Given the description of an element on the screen output the (x, y) to click on. 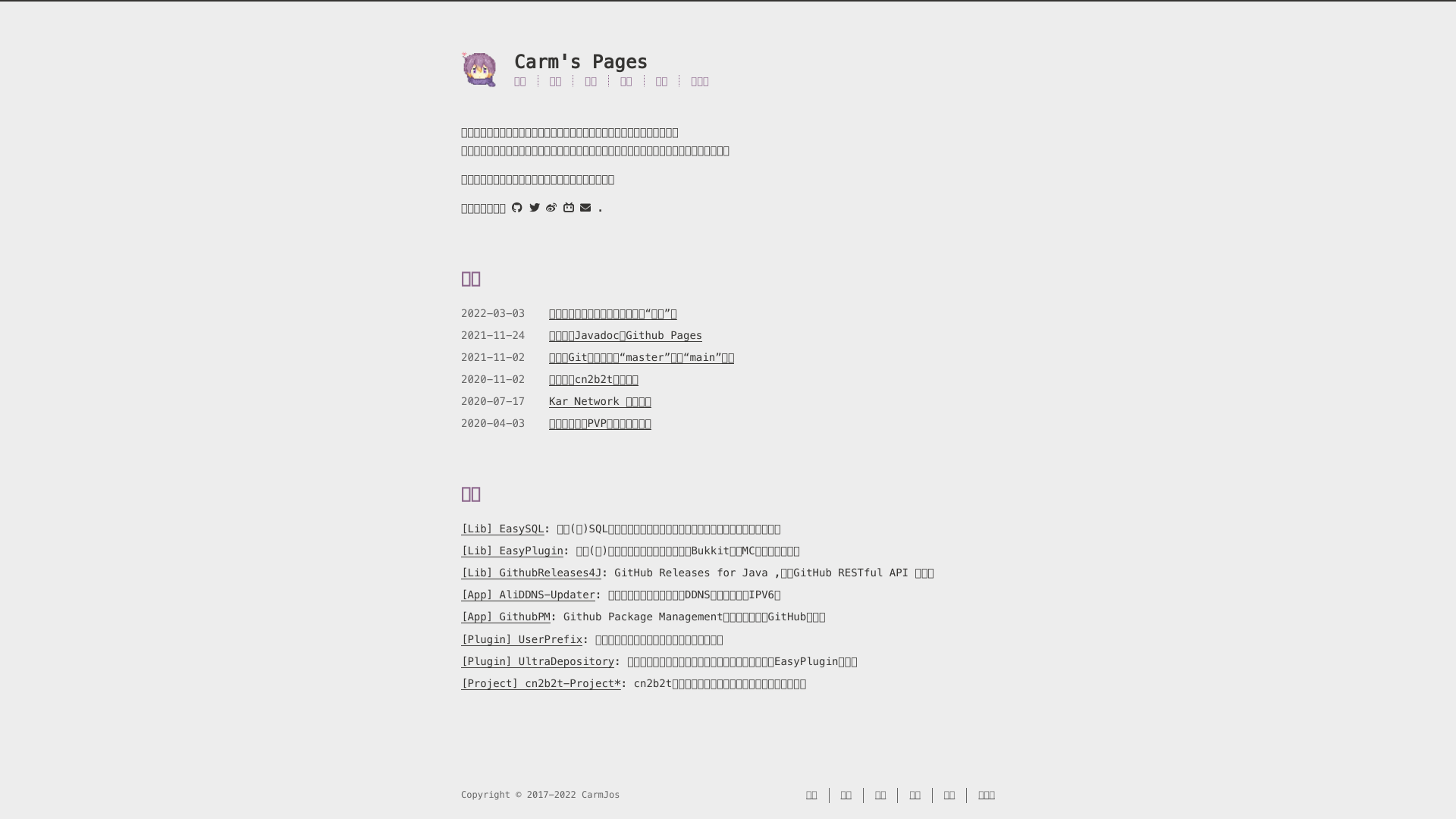
[Plugin] UltraDepository Element type: text (537, 661)
[App] GithubPM Element type: text (505, 616)
[Lib] EasyPlugin Element type: text (512, 550)
Carm's Pages Element type: text (727, 62)
[Lib] EasySQL Element type: text (502, 528)
[Project] cn2b2t-Project* Element type: text (541, 683)
[Plugin] UserPrefix Element type: text (521, 639)
[Lib] GithubReleases4J Element type: text (531, 572)
[App] AliDDNS-Updater Element type: text (528, 594)
